Given the description of an element on the screen output the (x, y) to click on. 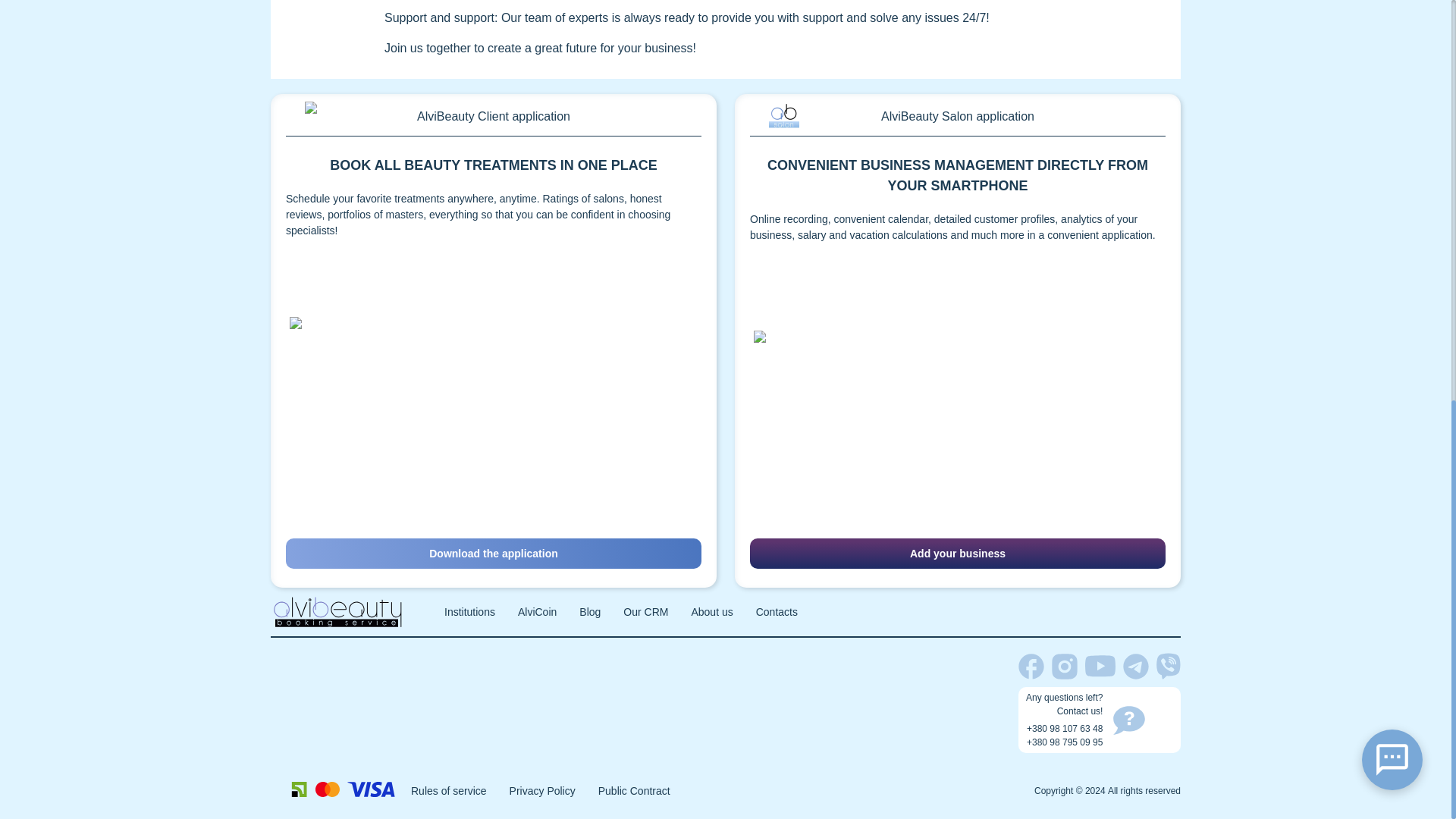
Blog (589, 612)
Public Contract (633, 790)
Download the application (493, 552)
Add your business (957, 553)
Rules of service (448, 790)
About us (711, 612)
Contacts (776, 611)
Download the application (493, 553)
Our CRM (645, 612)
Institutions (469, 612)
